Given the description of an element on the screen output the (x, y) to click on. 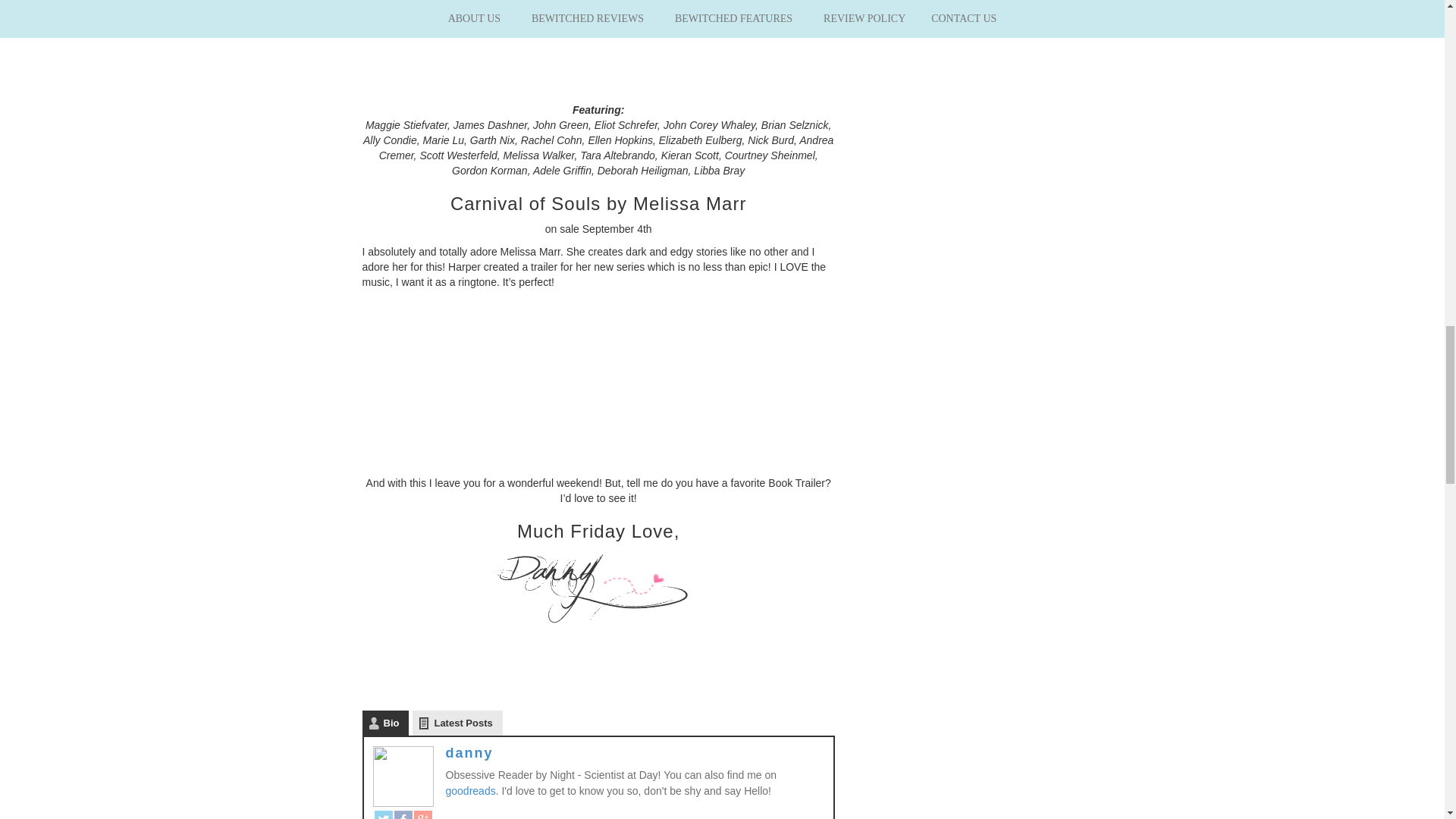
goodreads (470, 790)
danny (469, 752)
Twitter (383, 814)
Latest Posts (457, 722)
Bio (385, 722)
danny (598, 586)
Facebook (403, 814)
